Given the description of an element on the screen output the (x, y) to click on. 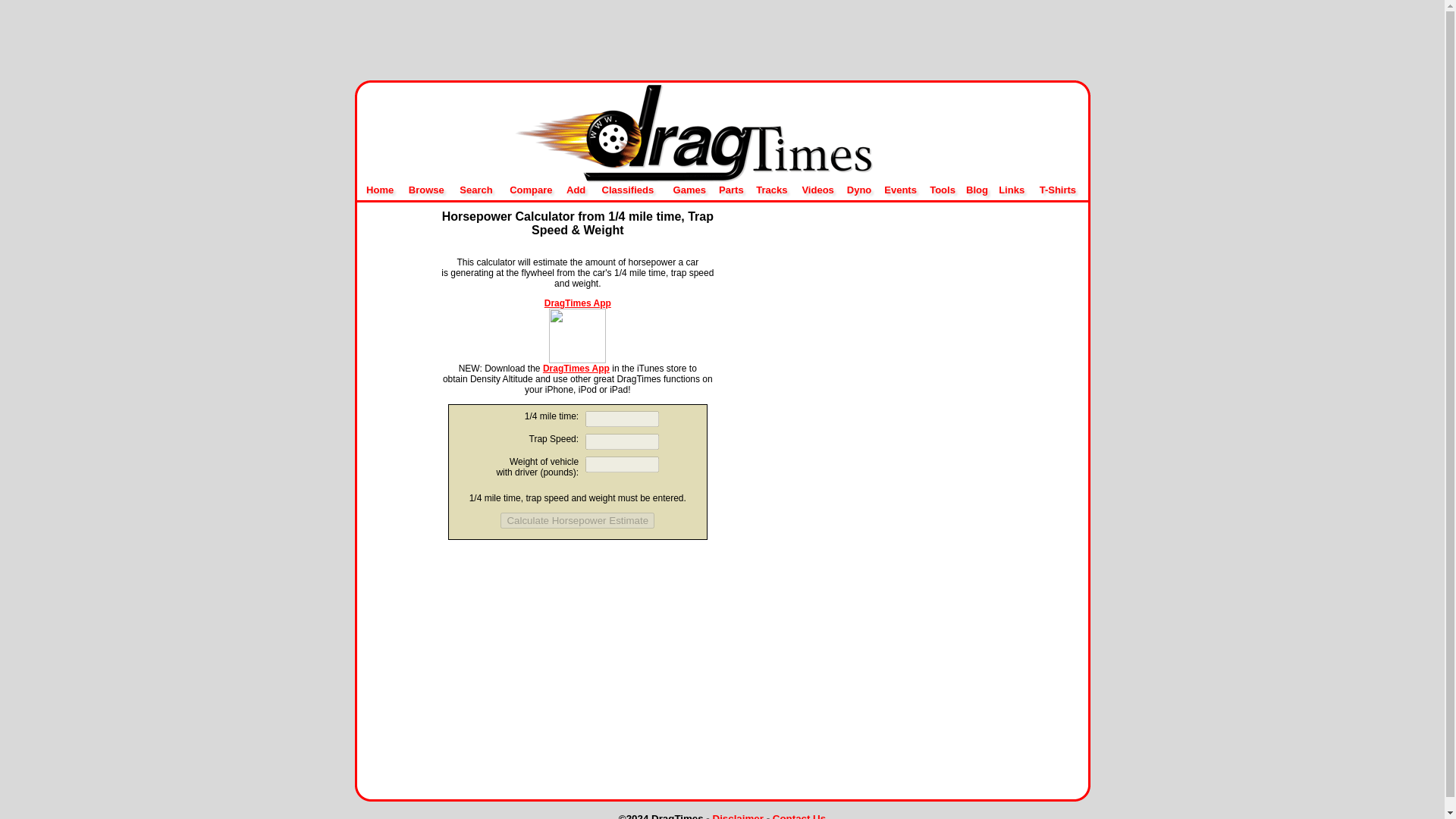
DragTimes App (576, 368)
Browse (426, 189)
Dyno (859, 189)
Games (689, 189)
 Home (377, 189)
Contact Us (799, 816)
Drag Racing Classifieds (627, 189)
Disclaimer (737, 816)
Add (575, 189)
Tools (942, 189)
Classifieds (627, 189)
Drag Racing Blog (977, 189)
DragTimes.com Home (377, 189)
Drag Racing Events (900, 189)
Compare Drag Racing Timeslips (530, 189)
